Given the description of an element on the screen output the (x, y) to click on. 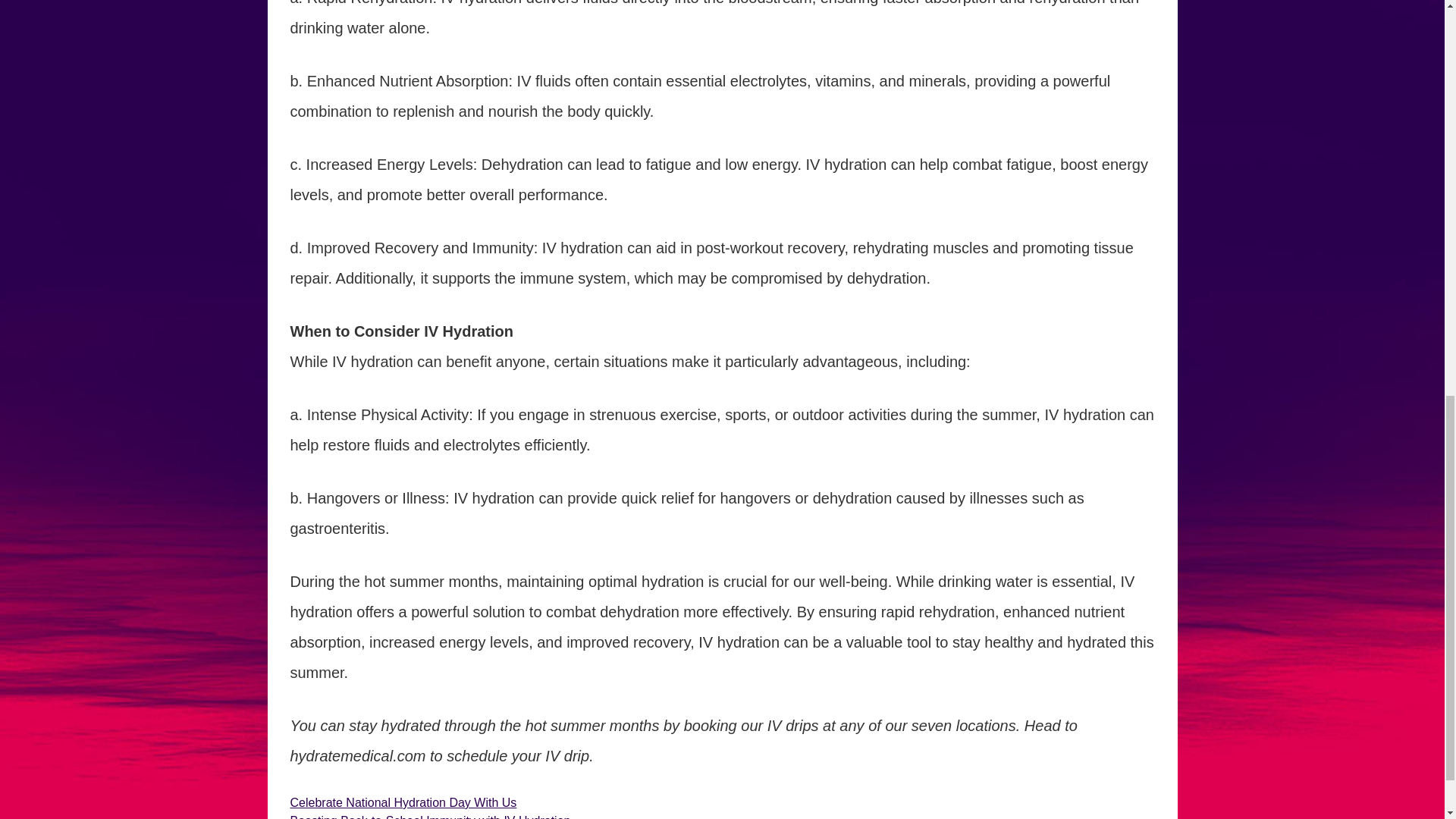
Celebrate National Hydration Day With Us (402, 802)
Boosting Back-to-School Immunity with IV Hydration (429, 816)
